Given the description of an element on the screen output the (x, y) to click on. 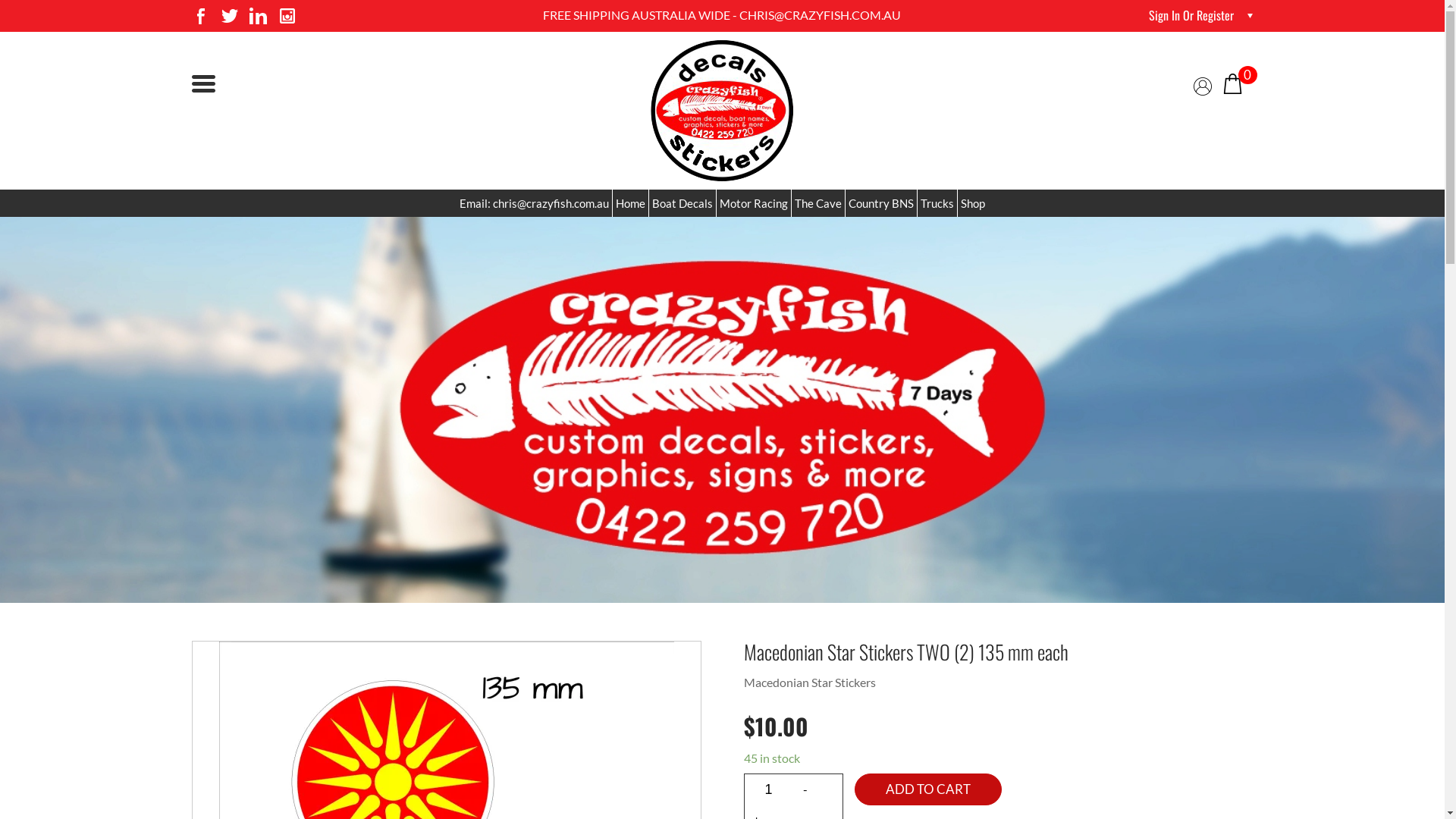
Trucks Element type: text (936, 202)
Motor Racing Element type: text (753, 202)
ADD TO CART Element type: text (927, 789)
Boat Decals Element type: text (682, 202)
Qty Element type: hover (768, 789)
0 Element type: text (1231, 82)
Home Element type: text (630, 202)
Email: chris@crazyfish.com.au Element type: text (533, 202)
The Cave Element type: text (817, 202)
Shop Element type: text (972, 202)
Country BNS Element type: text (880, 202)
Sign In Or Register Element type: text (1190, 15)
